Given the description of an element on the screen output the (x, y) to click on. 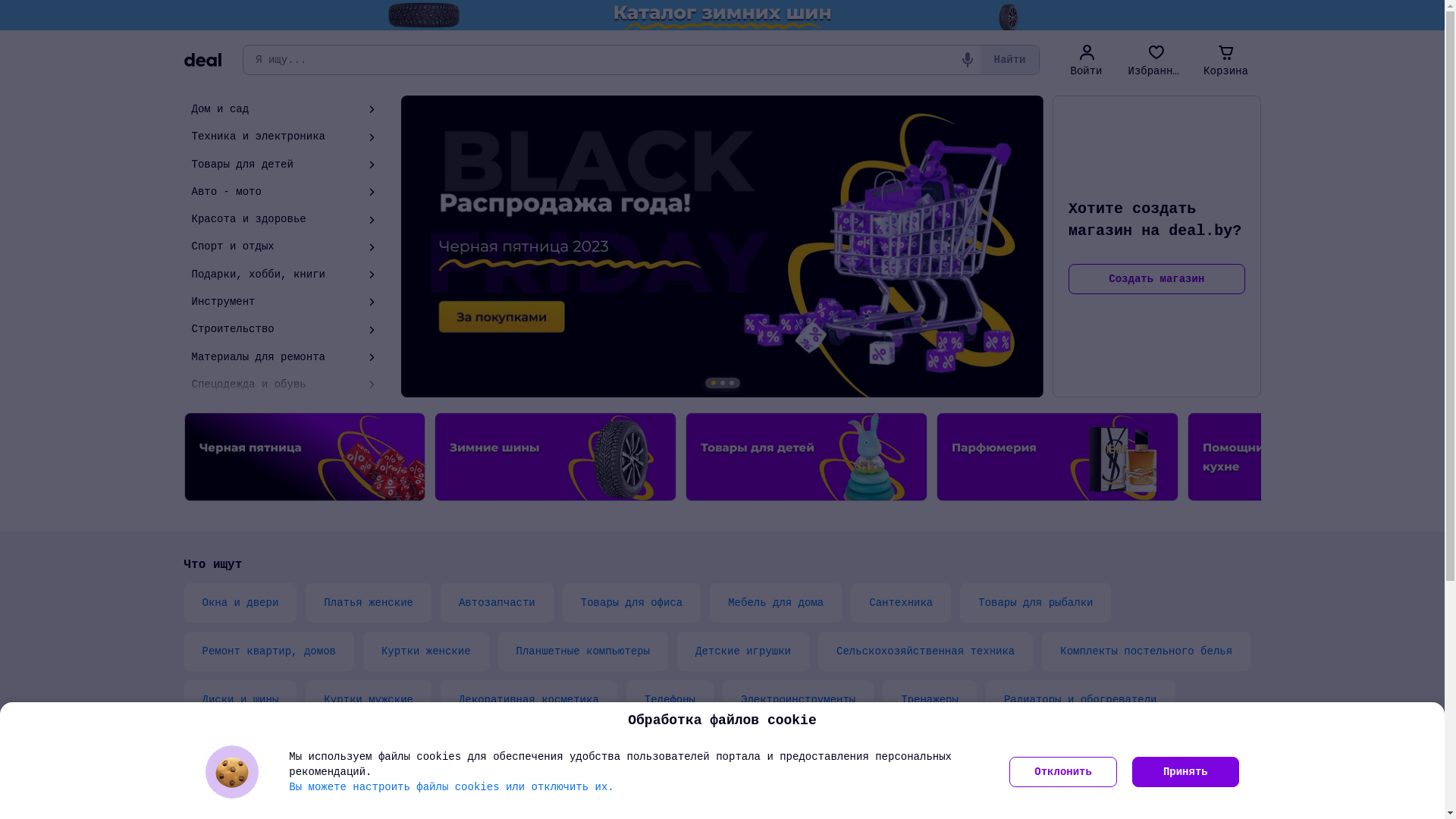
deal.by Element type: hover (202, 59)
3 Element type: text (731, 382)
2 Element type: text (722, 382)
1 Element type: text (713, 382)
